Given the description of an element on the screen output the (x, y) to click on. 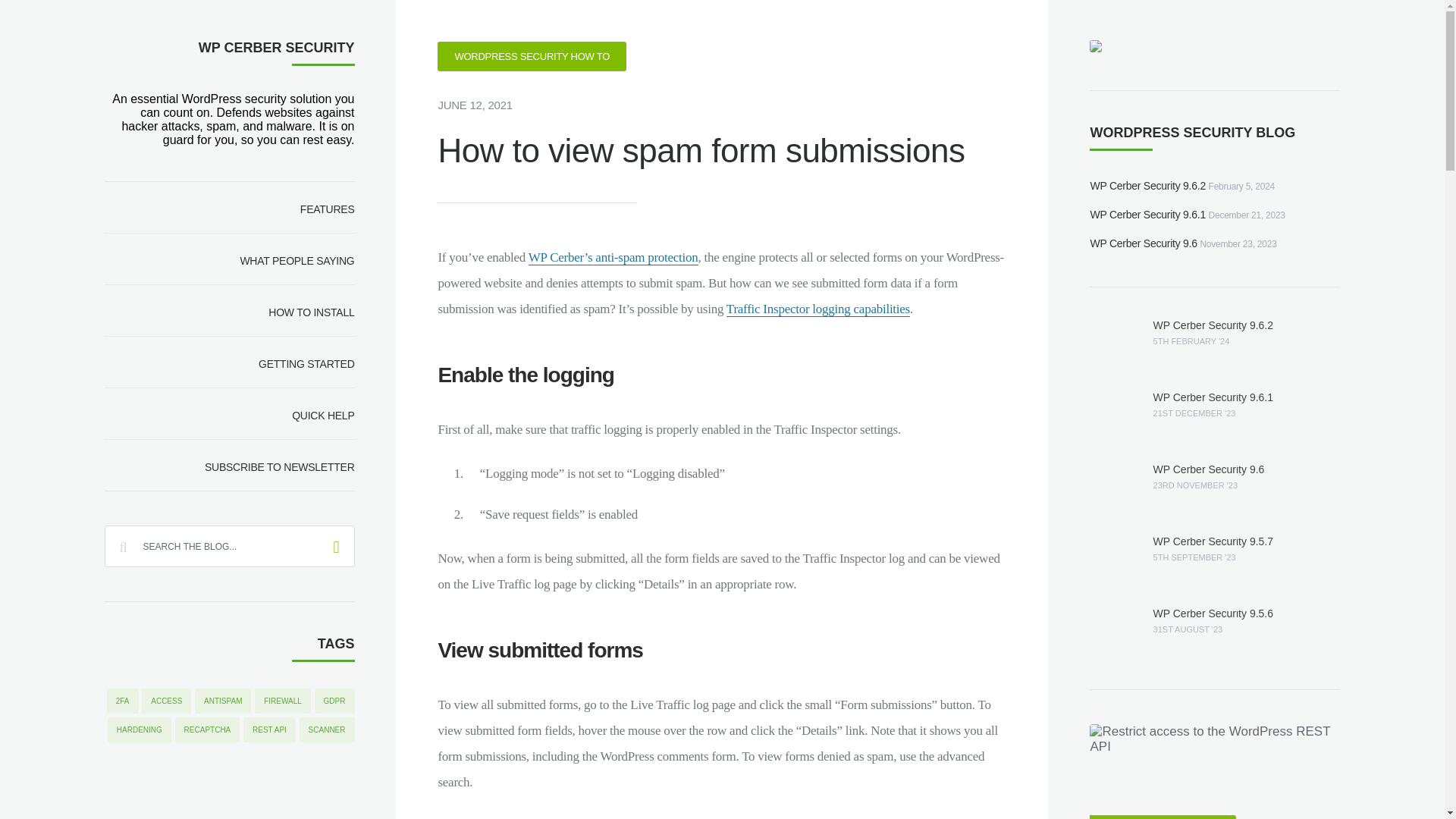
2FA (122, 700)
RECAPTCHA (207, 729)
SUBSCRIBE TO NEWSLETTER (229, 464)
ACCESS (165, 700)
JUNE 12, 2021 (475, 104)
FEATURES (229, 207)
FIREWALL (282, 700)
WHAT PEOPLE SAYING (229, 259)
ANTISPAM (222, 700)
REST API (269, 729)
